Given the description of an element on the screen output the (x, y) to click on. 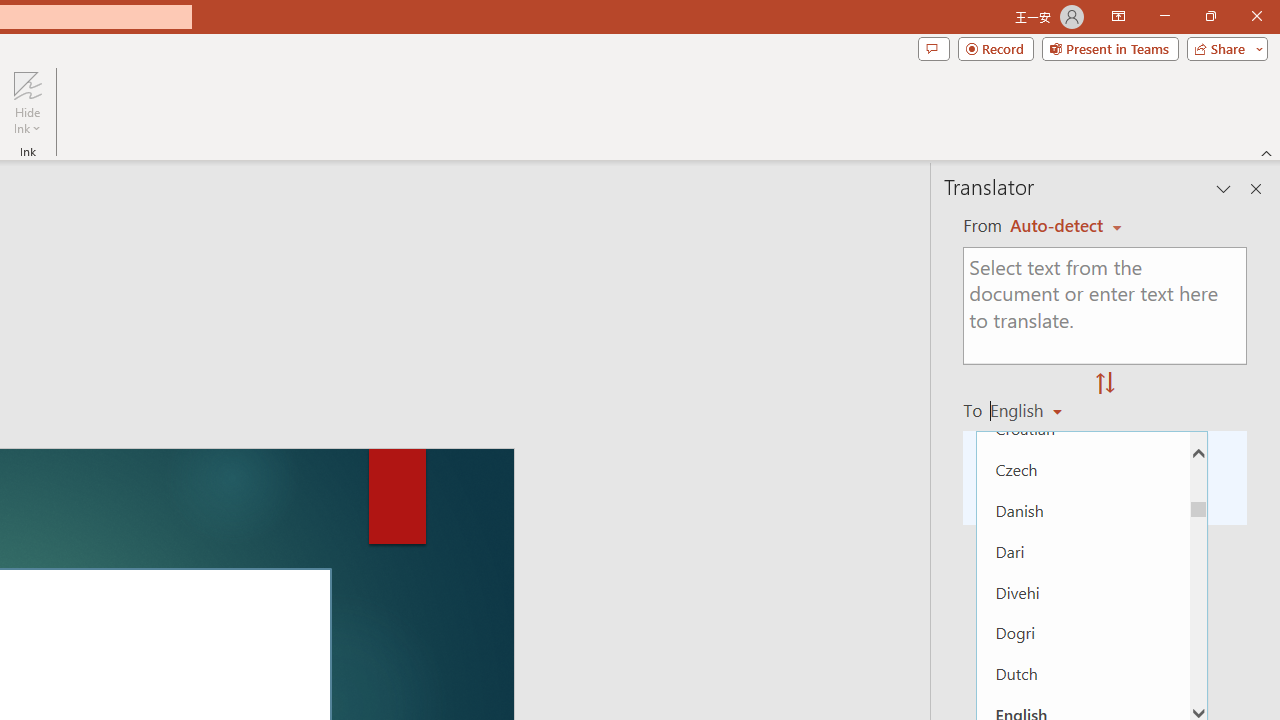
Chhattisgarhi (1083, 264)
Hide Ink (27, 84)
Chinese (Literary) (1083, 305)
Dogri (1083, 632)
Catalan (1083, 223)
Hide Ink (27, 102)
Czech (1083, 469)
